Given the description of an element on the screen output the (x, y) to click on. 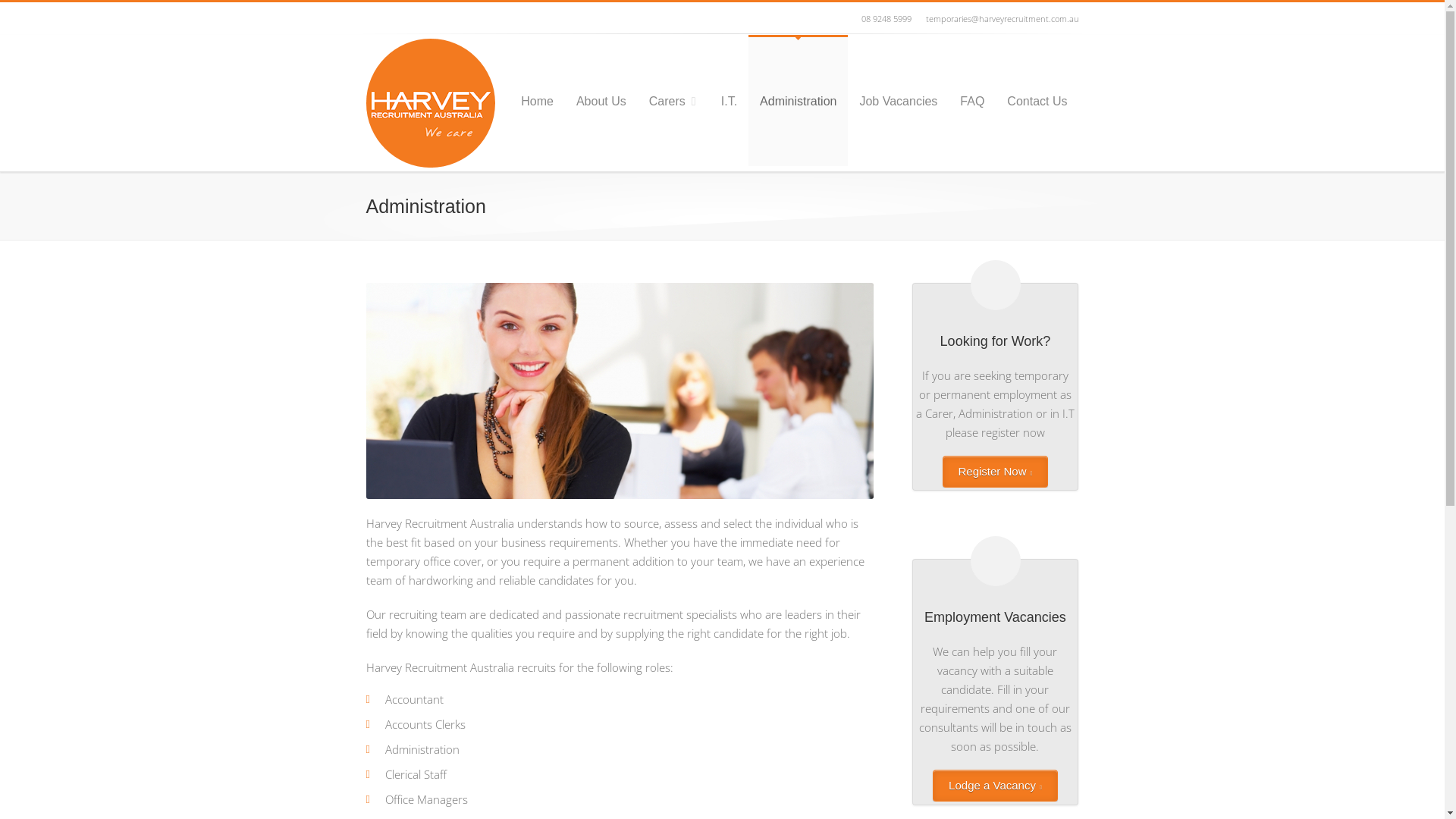
Register Now Element type: text (994, 471)
FAQ Element type: text (971, 100)
  temporaries@harveyrecruitment.com.au Element type: text (999, 18)
I.T. Element type: text (728, 100)
Carers Element type: text (673, 100)
Lodge a Vacancy Element type: text (994, 785)
Contact Us Element type: text (1036, 100)
Looking for Work? Element type: text (995, 337)
Employment Vacancies Element type: text (995, 613)
Administration Element type: text (797, 100)
About Us Element type: text (600, 100)
Job Vacancies Element type: text (897, 100)
Home Element type: text (536, 100)
